Given the description of an element on the screen output the (x, y) to click on. 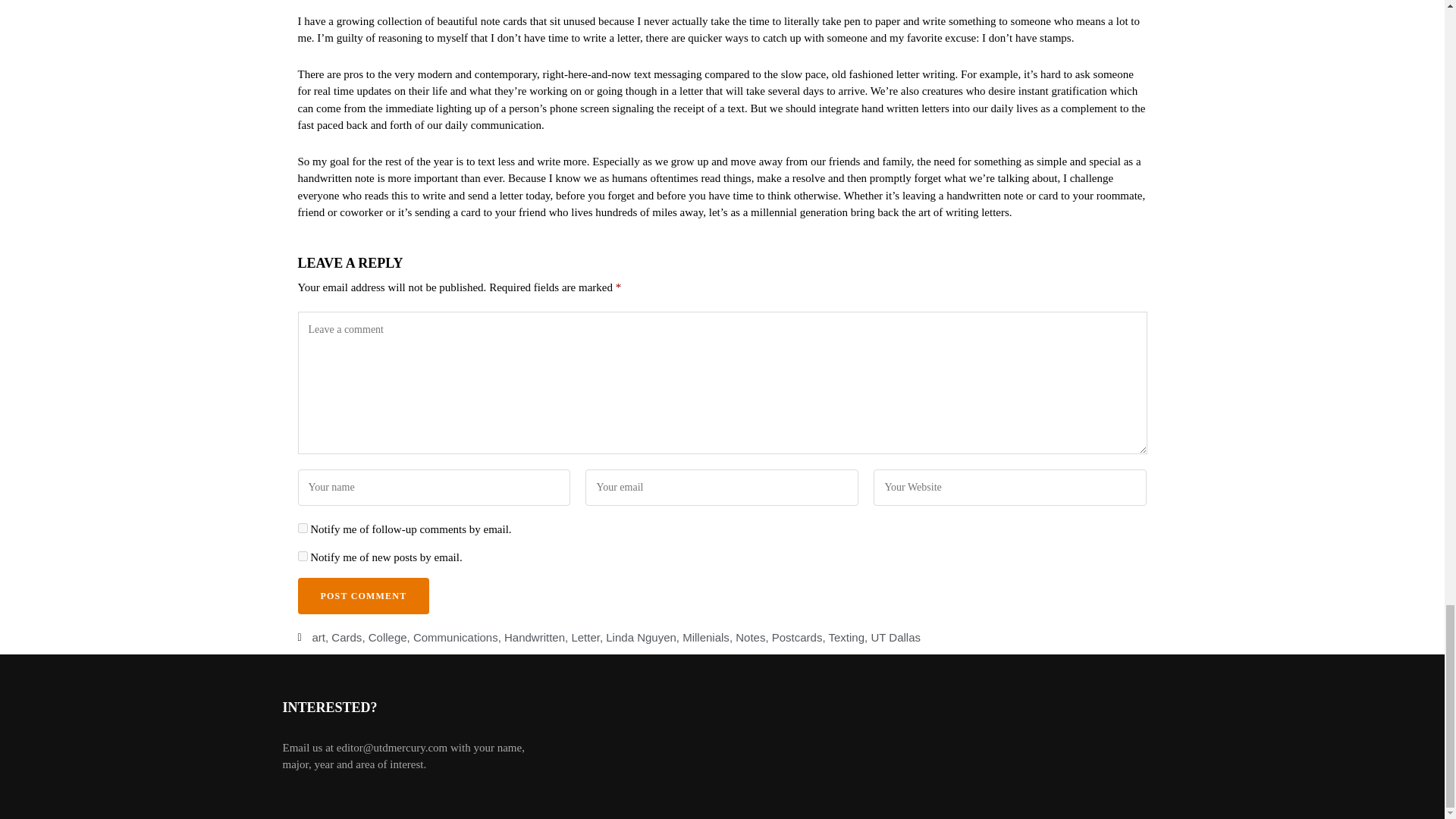
subscribe (302, 556)
subscribe (302, 528)
Post Comment (363, 596)
